Given the description of an element on the screen output the (x, y) to click on. 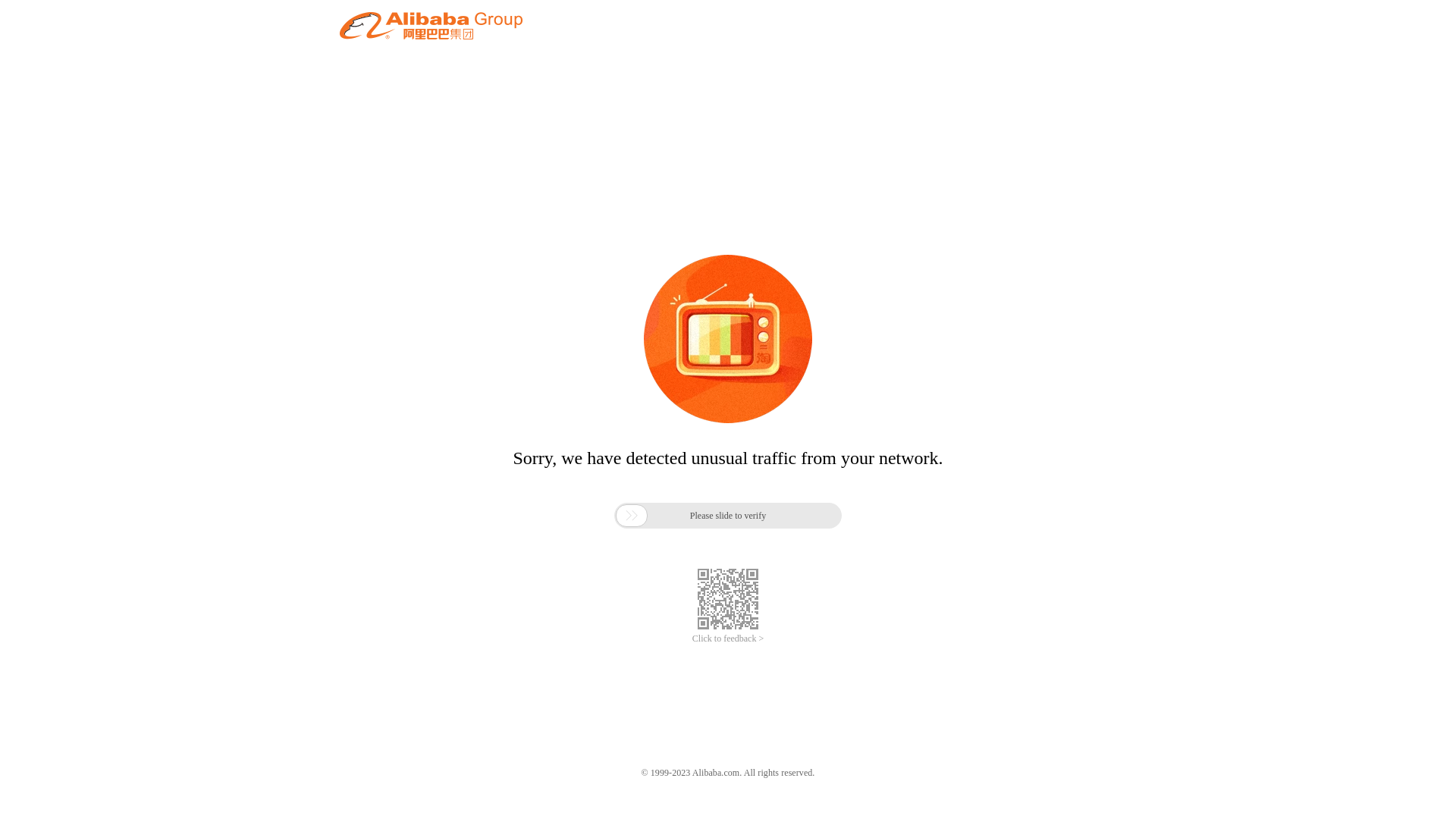
Click to feedback > Element type: text (727, 638)
